Given the description of an element on the screen output the (x, y) to click on. 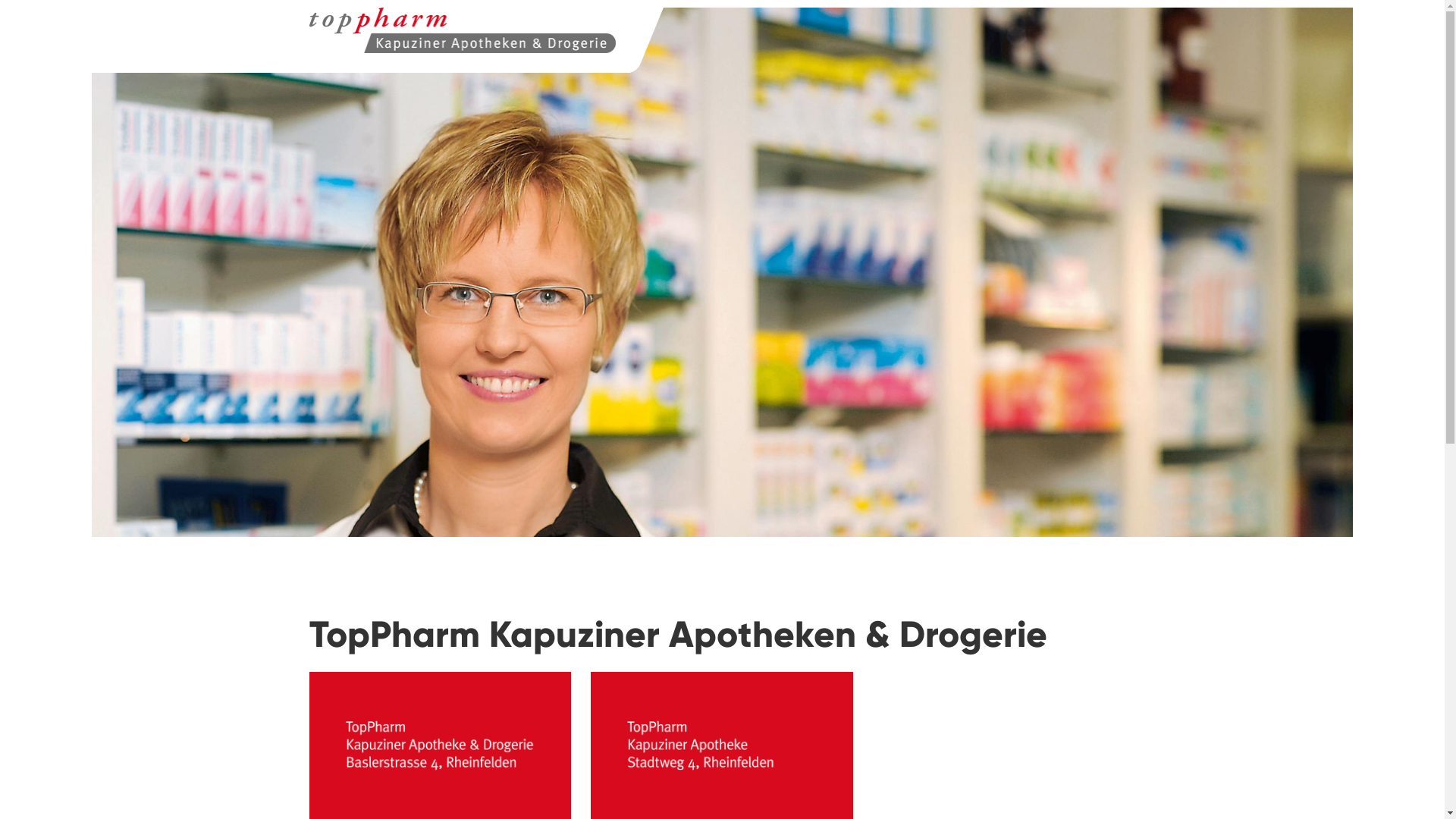
TopPharm Kapuziner Apotheken & Drogerie Element type: hover (462, 30)
TopPharm Kapuziner Apotheke - Rheinfelden Stadtweg Element type: text (308, 39)
